Given the description of an element on the screen output the (x, y) to click on. 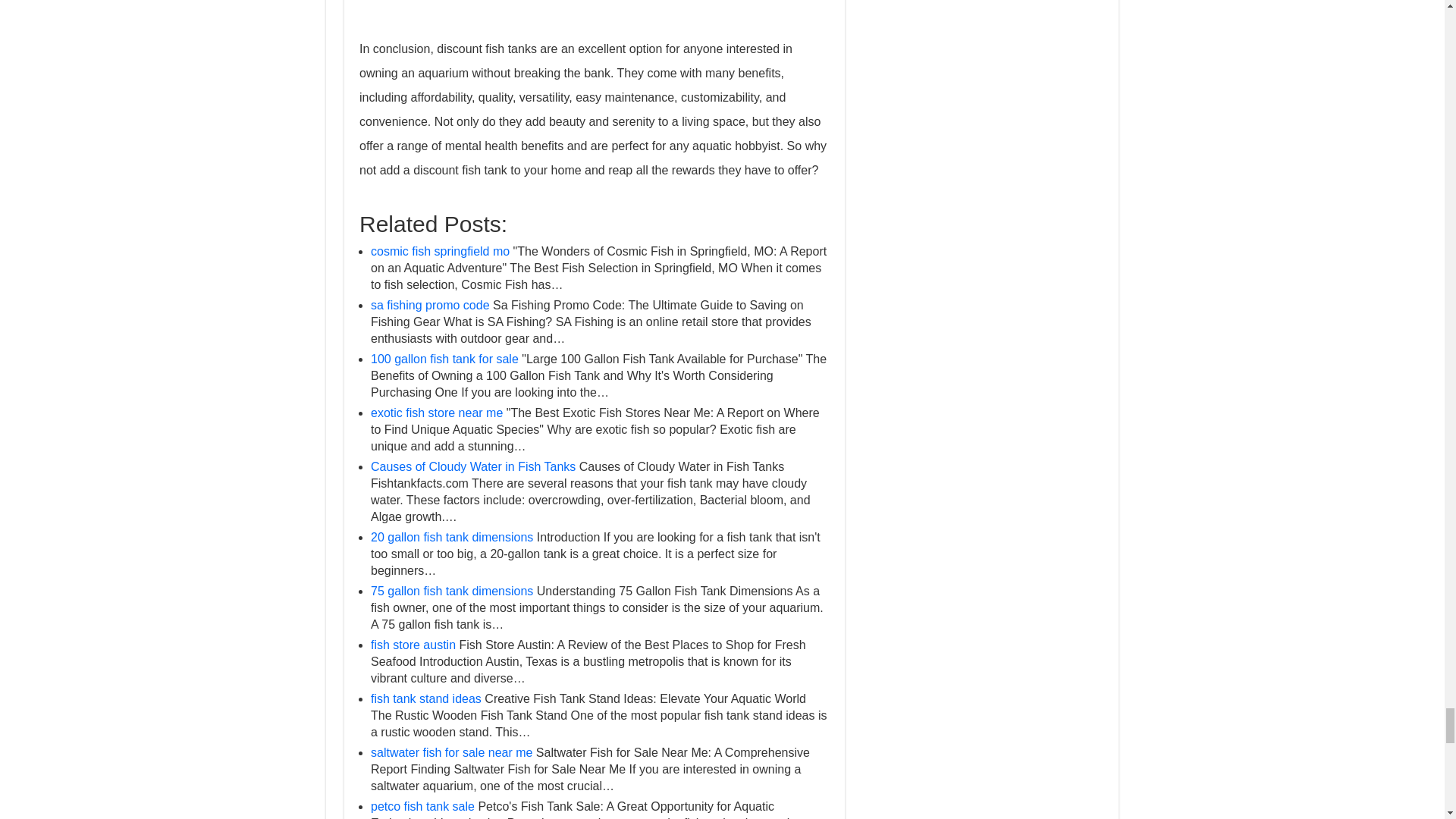
100 gallon fish tank for sale (444, 358)
fish store austin (413, 644)
20 gallon fish tank dimensions (451, 536)
cosmic fish springfield mo (440, 250)
75 gallon fish tank dimensions (451, 590)
sa fishing promo code (430, 305)
Causes of Cloudy Water in Fish Tanks (473, 466)
exotic fish store near me (436, 412)
